Given the description of an element on the screen output the (x, y) to click on. 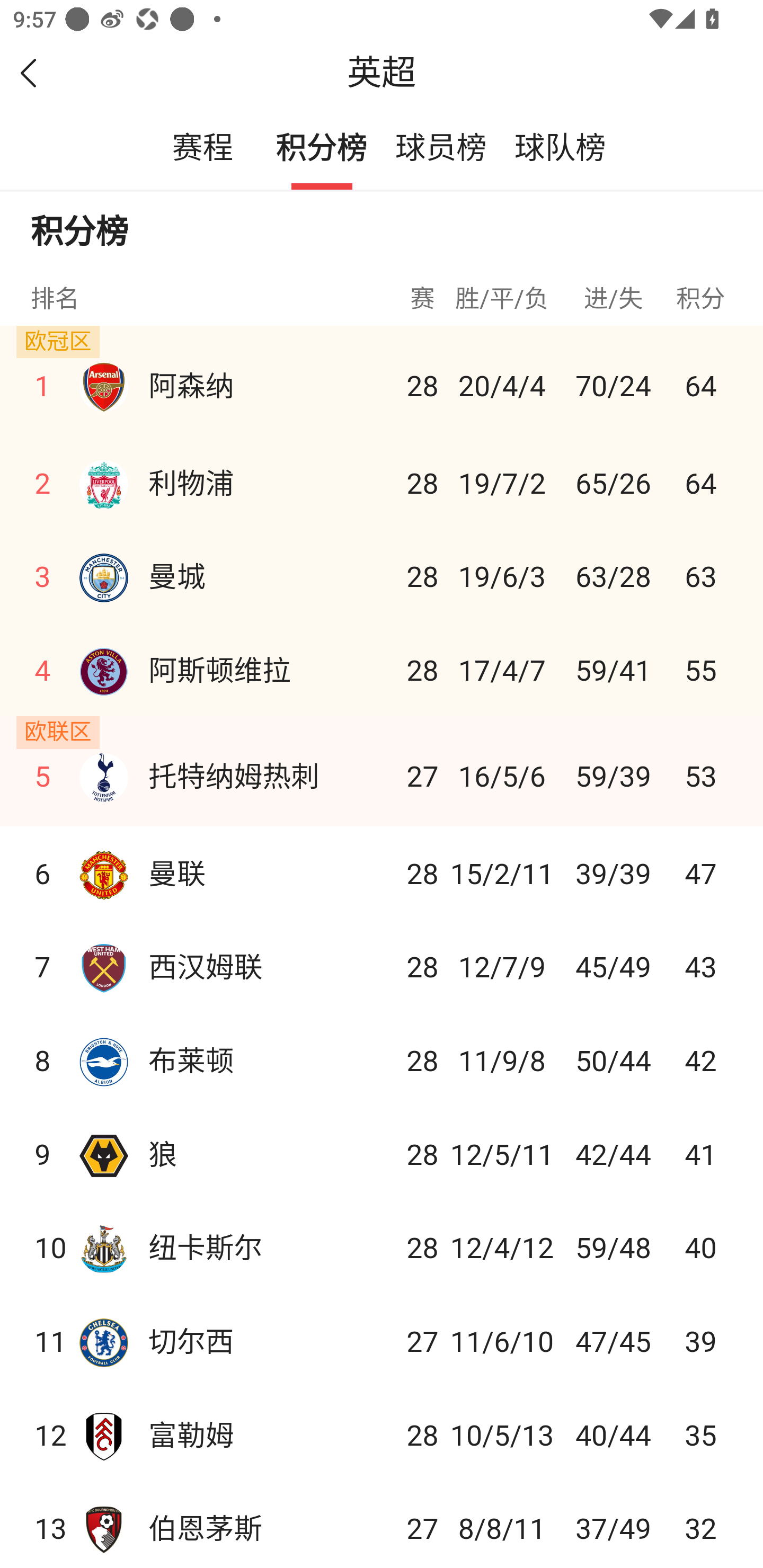
英超 (381, 72)
赛程 (202, 149)
积分榜 (321, 149)
球员榜 (440, 149)
球队榜 (559, 149)
欧冠区 1 阿森纳 28 20/4/4 70/24 64 (381, 380)
2 利物浦 28 19/7/2 65/26 64 (381, 482)
3 曼城 28 19/6/3 63/28 63 (381, 574)
4 阿斯顿维拉 28 17/4/7 59/41 55 (381, 668)
欧联区 5 托特纳姆热刺 27 16/5/6 59/39 53 (381, 770)
6 曼联 28 15/2/11 39/39 47 (381, 872)
7 西汉姆联 28 12/7/9 45/49 43 (381, 966)
8 布莱顿 28 11/9/8 50/44 42 (381, 1059)
9 狼 28 12/5/11 42/44 41 (381, 1153)
10 纽卡斯尔 28 12/4/12 59/48 40 (381, 1247)
11 切尔西 27 11/6/10 47/45 39 (381, 1341)
12 富勒姆 28 10/5/13 40/44 35 (381, 1434)
13 伯恩茅斯 27 8/8/11 37/49 32 (381, 1524)
